Given the description of an element on the screen output the (x, y) to click on. 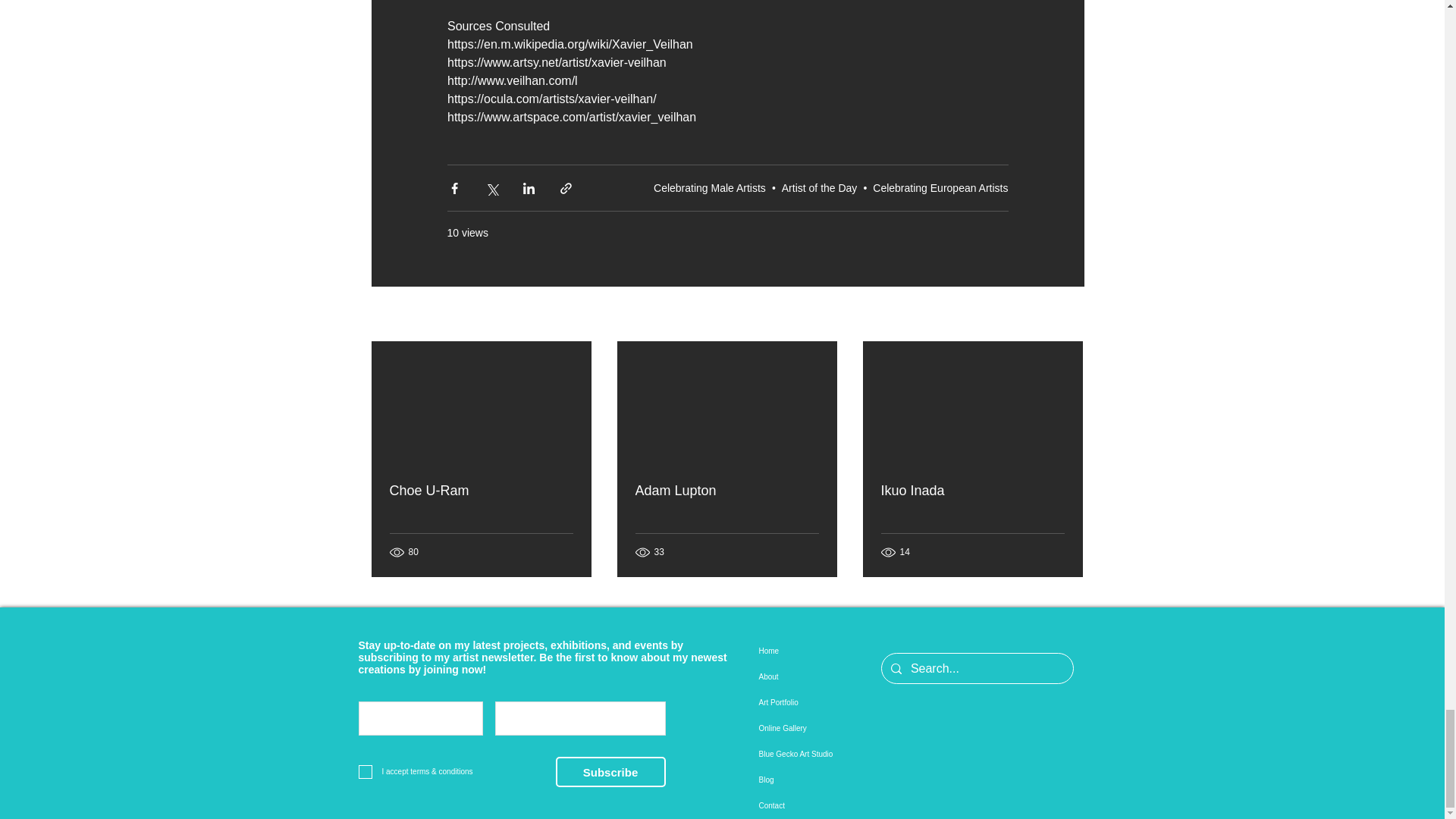
Celebrating Male Artists (709, 187)
